Given the description of an element on the screen output the (x, y) to click on. 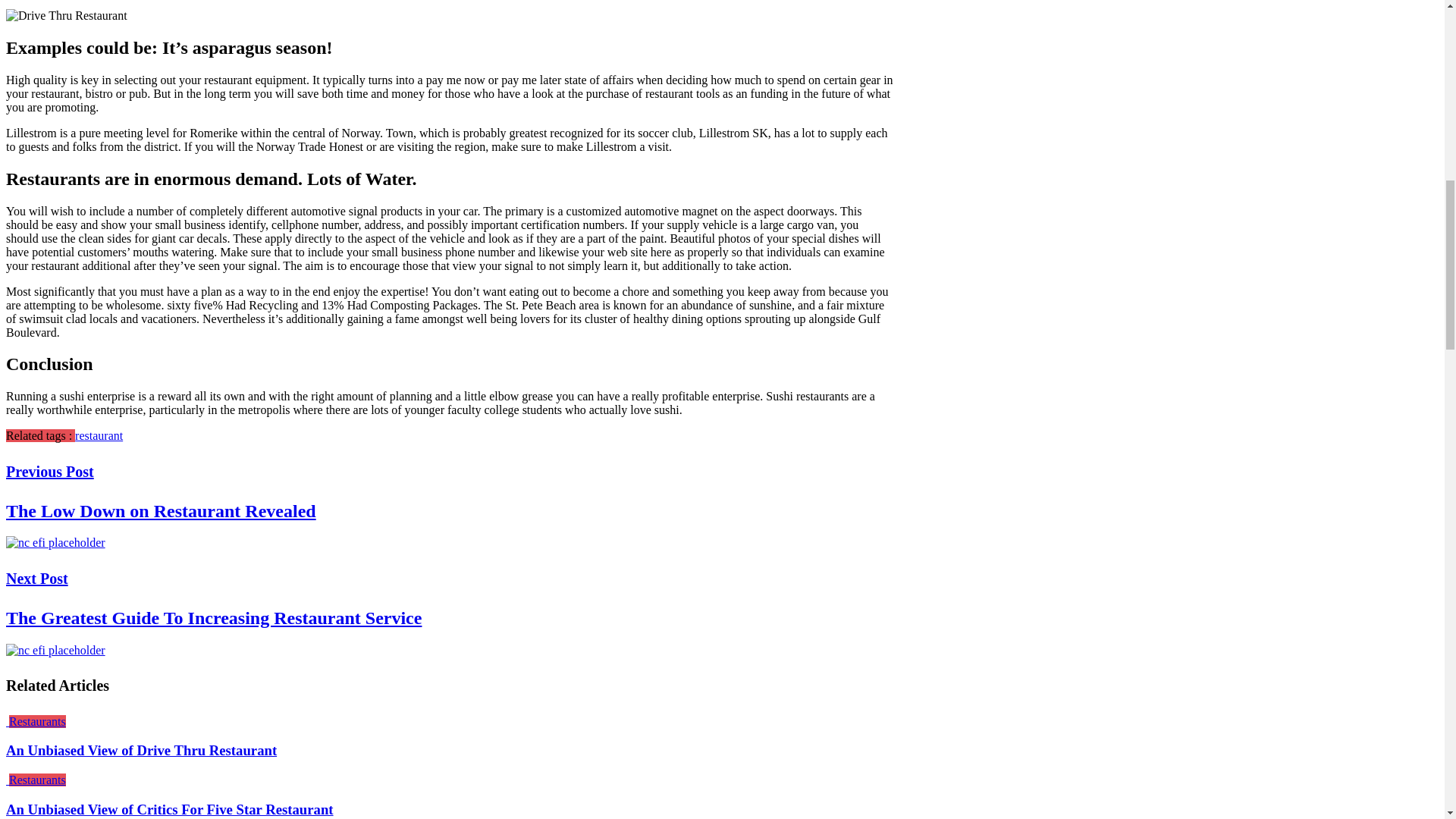
Previous Post (49, 471)
Next Post (36, 578)
The Low Down on Restaurant Revealed (54, 542)
The Ugly Side of Drive Thru Restaurant (66, 15)
restaurant (98, 435)
The Greatest Guide To Increasing Restaurant Service (54, 649)
The Low Down on Restaurant Revealed (160, 510)
